Given the description of an element on the screen output the (x, y) to click on. 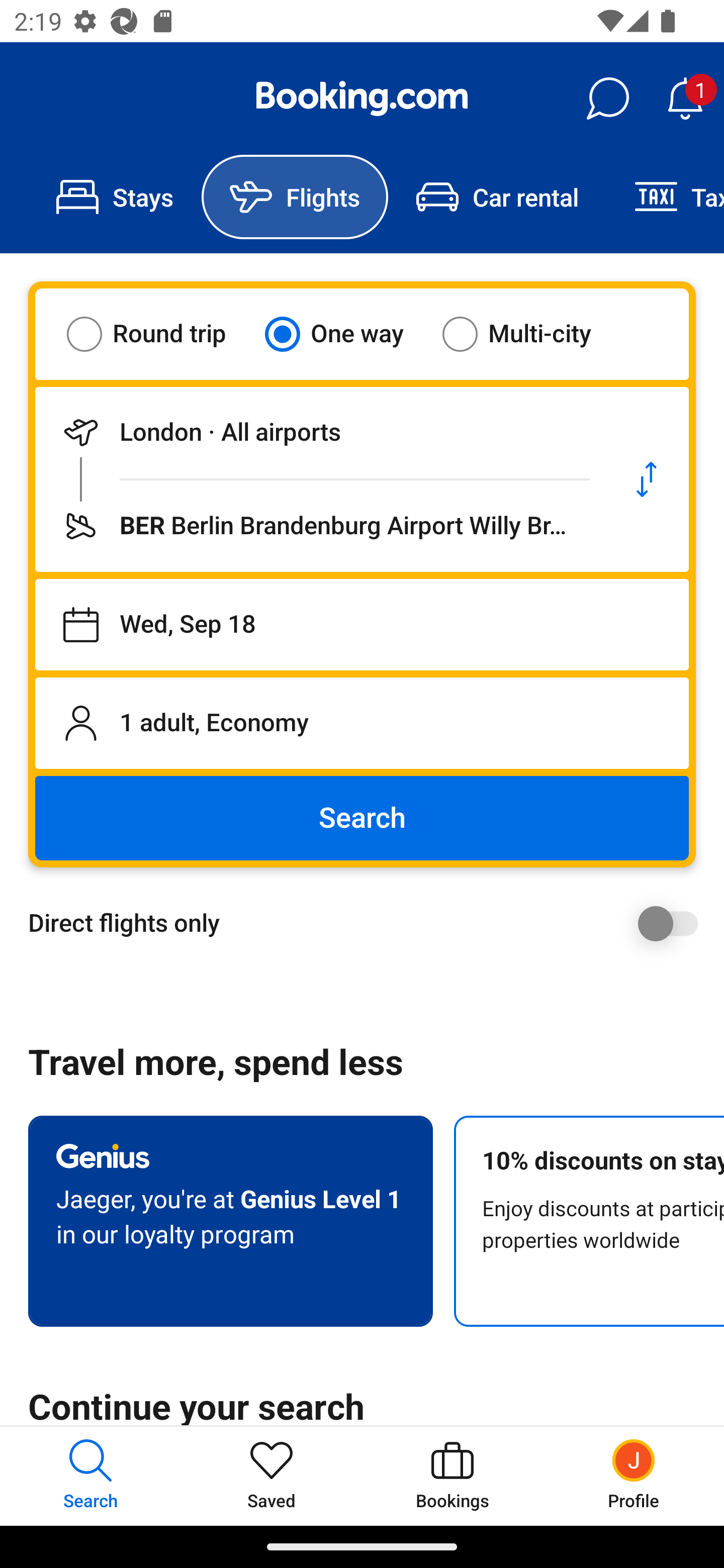
Messages (607, 98)
Notifications (685, 98)
Stays (114, 197)
Flights (294, 197)
Car rental (497, 197)
Taxi (665, 197)
Round trip (158, 333)
Multi-city (528, 333)
Departing from London · All airports (319, 432)
Swap departure location and destination (646, 479)
Departing on Wed, Sep 18 (361, 624)
1 adult, Economy (361, 722)
Search (361, 818)
Direct flights only (369, 923)
Saved (271, 1475)
Bookings (452, 1475)
Profile (633, 1475)
